Given the description of an element on the screen output the (x, y) to click on. 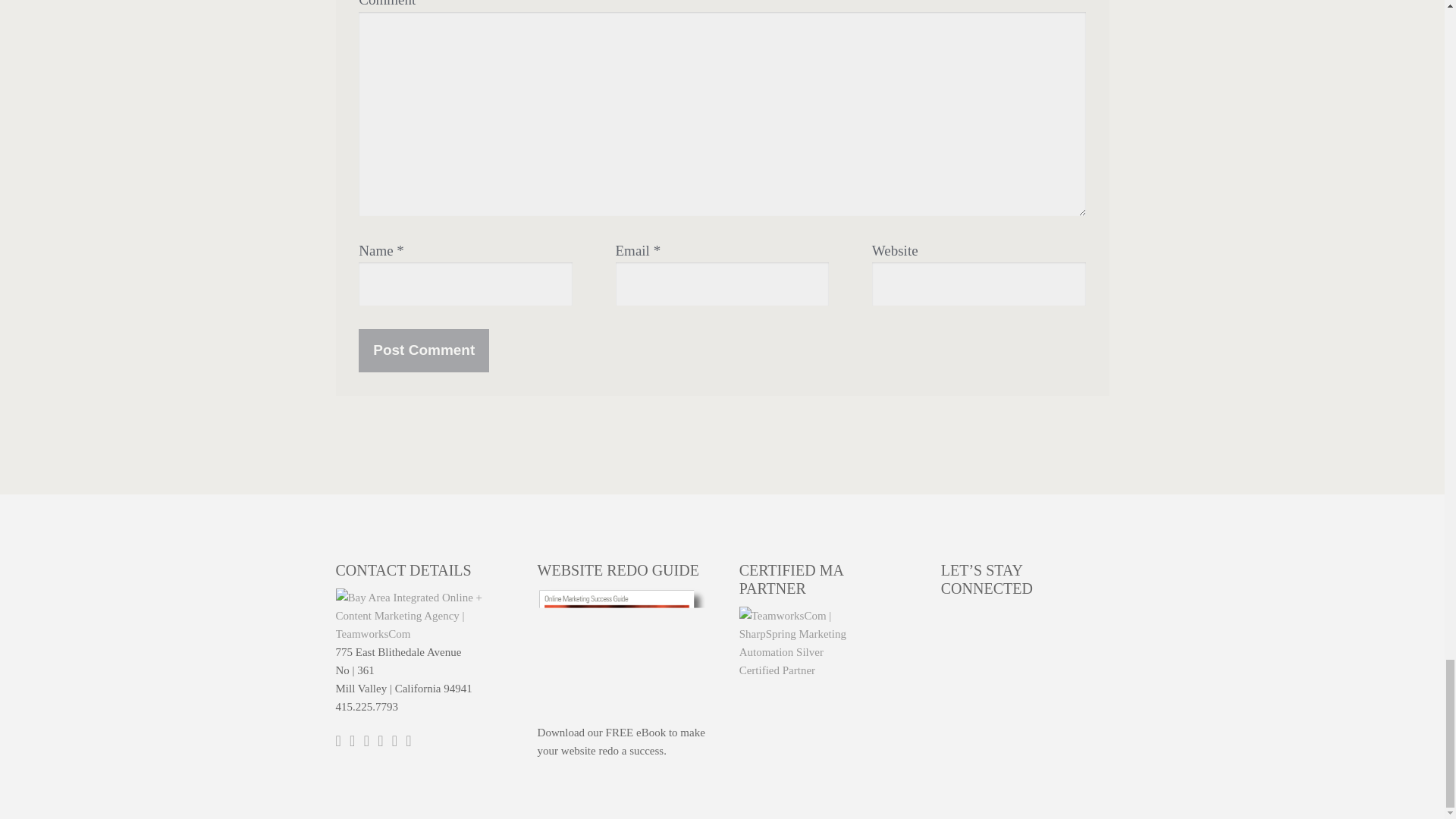
Post Comment (423, 350)
